Given the description of an element on the screen output the (x, y) to click on. 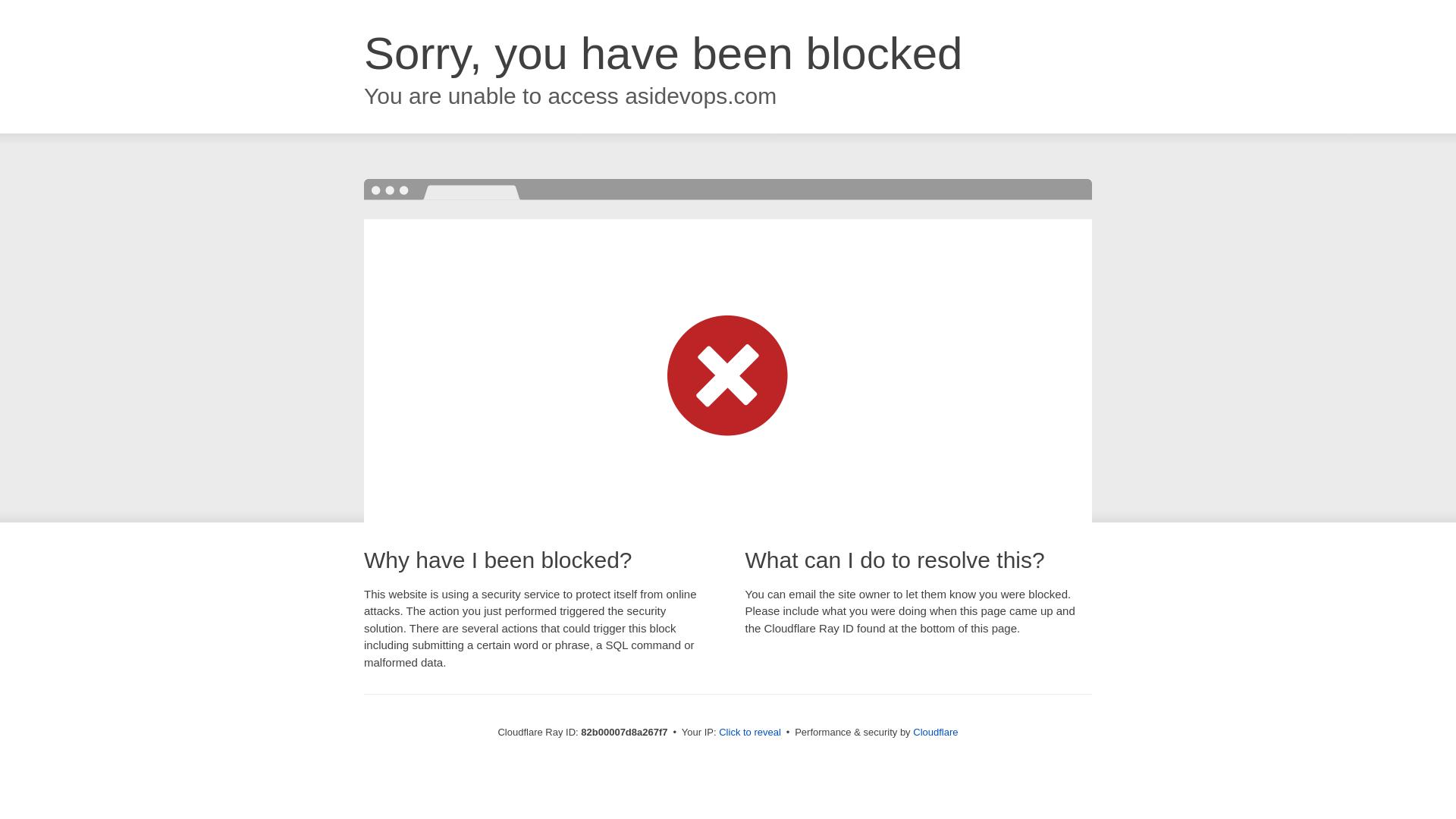
Click to reveal Element type: text (749, 732)
Cloudflare Element type: text (935, 731)
